Given the description of an element on the screen output the (x, y) to click on. 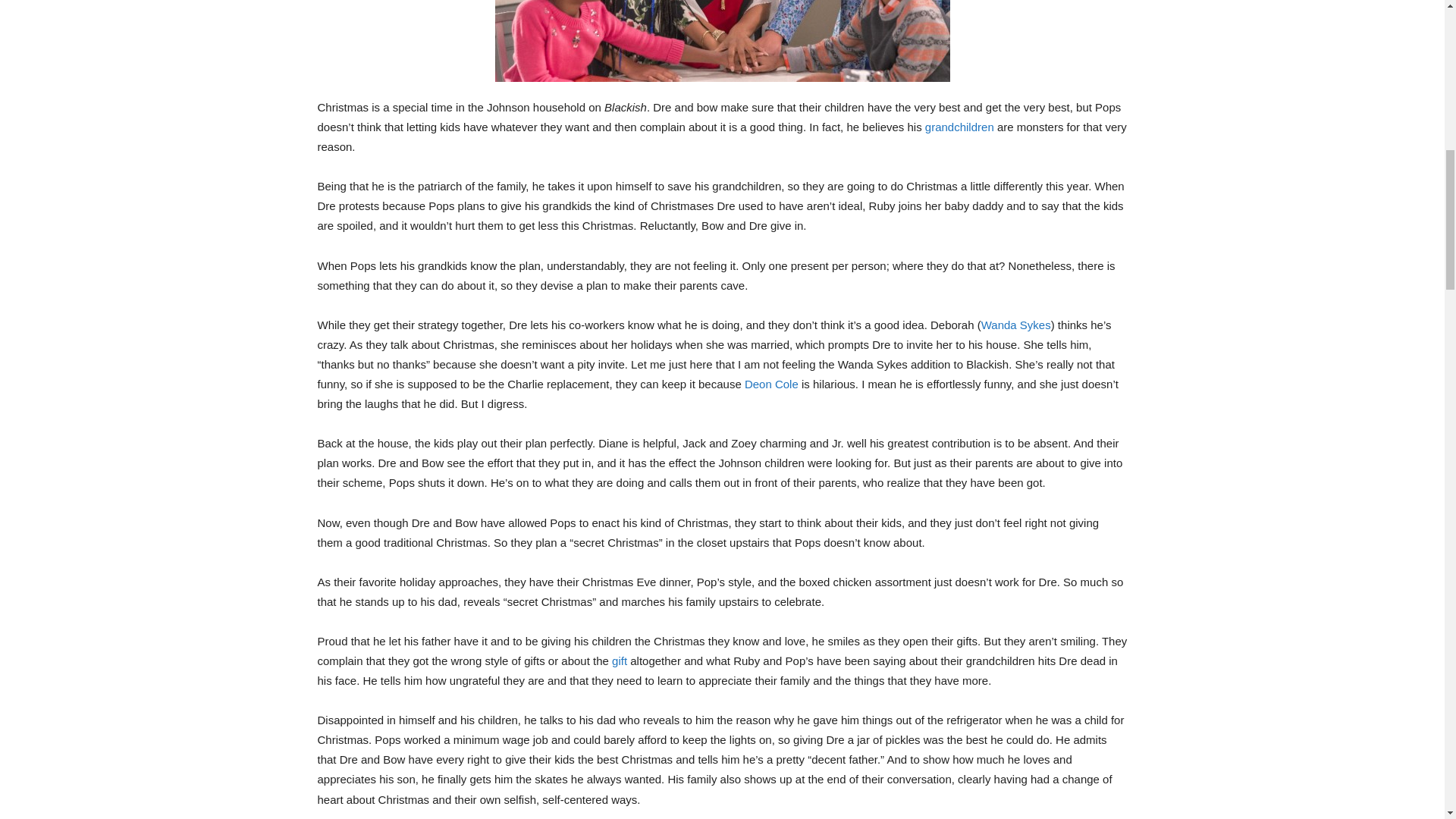
Deon Cole (770, 383)
Family (959, 126)
Wanda Sykes (1016, 324)
